Given the description of an element on the screen output the (x, y) to click on. 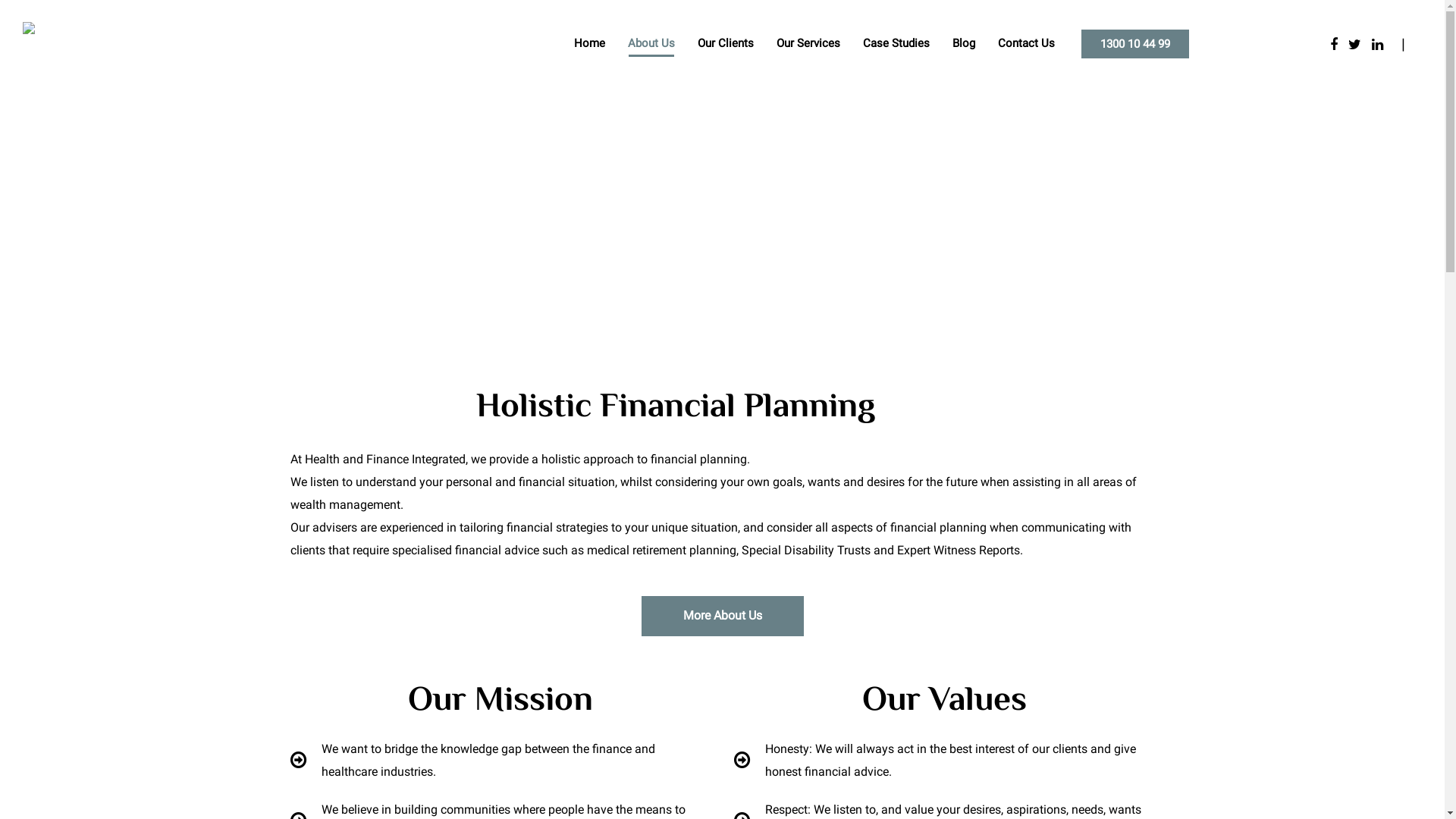
About Us Element type: text (651, 43)
Contact Us Element type: text (1026, 43)
Our Clients Element type: text (725, 43)
Case Studies Element type: text (896, 43)
Our Services Element type: text (808, 43)
More About Us Element type: text (722, 616)
Home Element type: text (589, 43)
Blog Element type: text (963, 43)
Home Element type: text (692, 239)
1300 10 44 99 Element type: text (1135, 43)
